Given the description of an element on the screen output the (x, y) to click on. 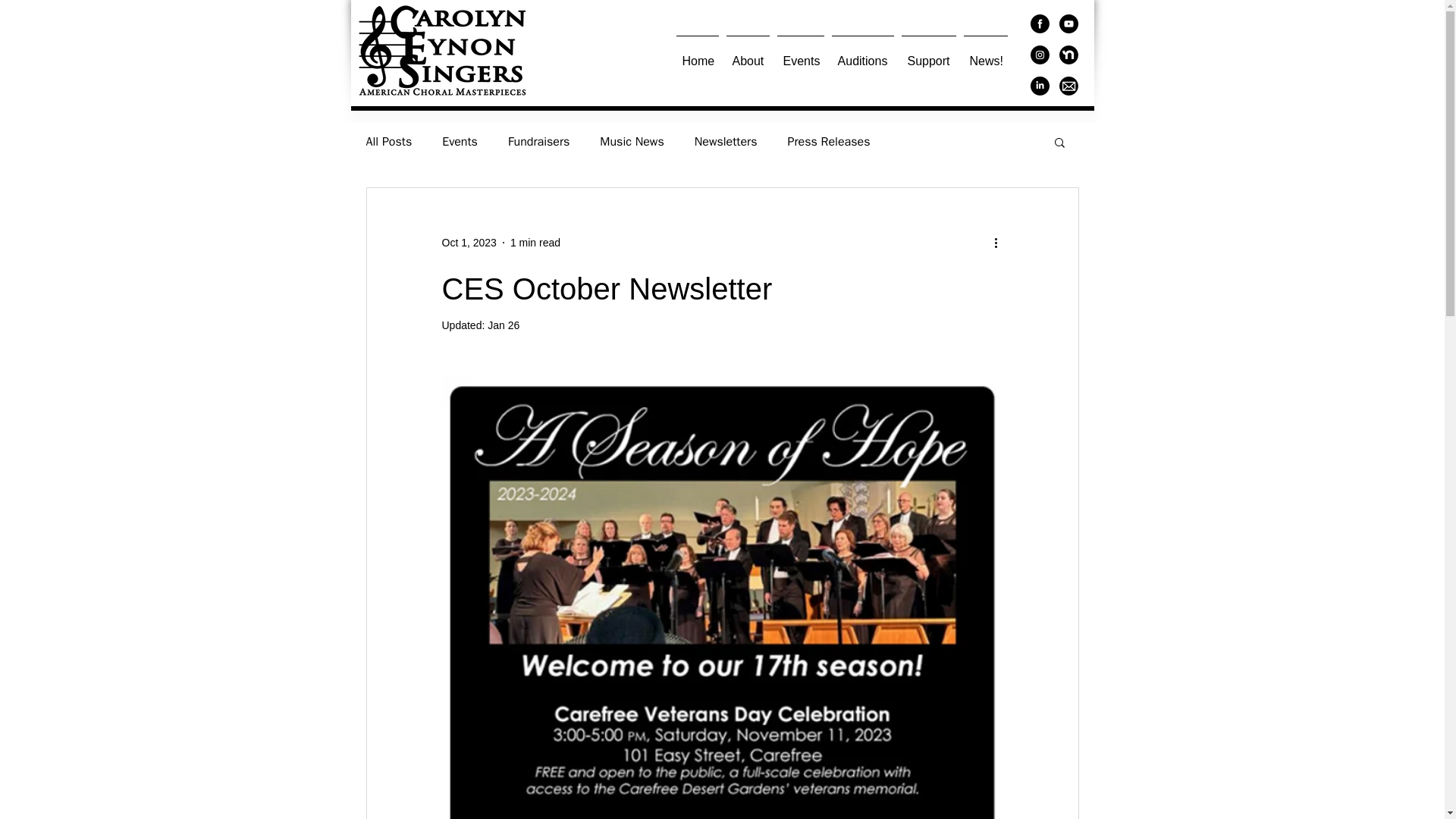
Oct 1, 2023 (468, 242)
Music News (631, 141)
All Posts (388, 141)
Support (928, 54)
Jan 26 (503, 325)
Auditions (863, 54)
Newsletters (725, 141)
Events (800, 54)
1 min read (535, 242)
News! (985, 54)
About (747, 54)
Home (696, 54)
Press Releases (828, 141)
Fundraisers (538, 141)
Events (459, 141)
